Given the description of an element on the screen output the (x, y) to click on. 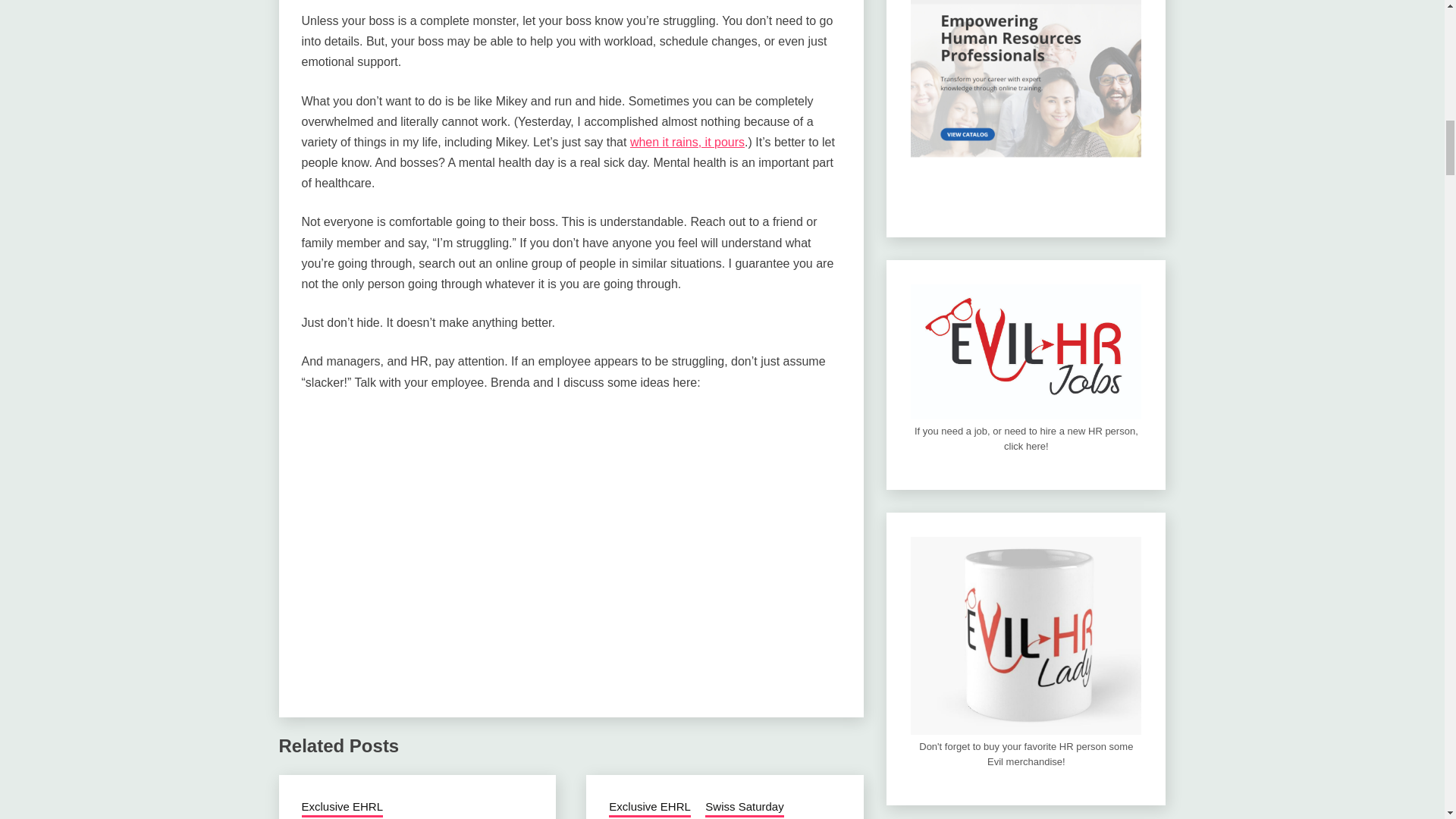
when it rains, it pours (687, 141)
Exclusive EHRL (342, 808)
Swiss Saturday (743, 808)
Switzerland (638, 818)
Exclusive EHRL (649, 808)
YouTube video player (513, 512)
